Given the description of an element on the screen output the (x, y) to click on. 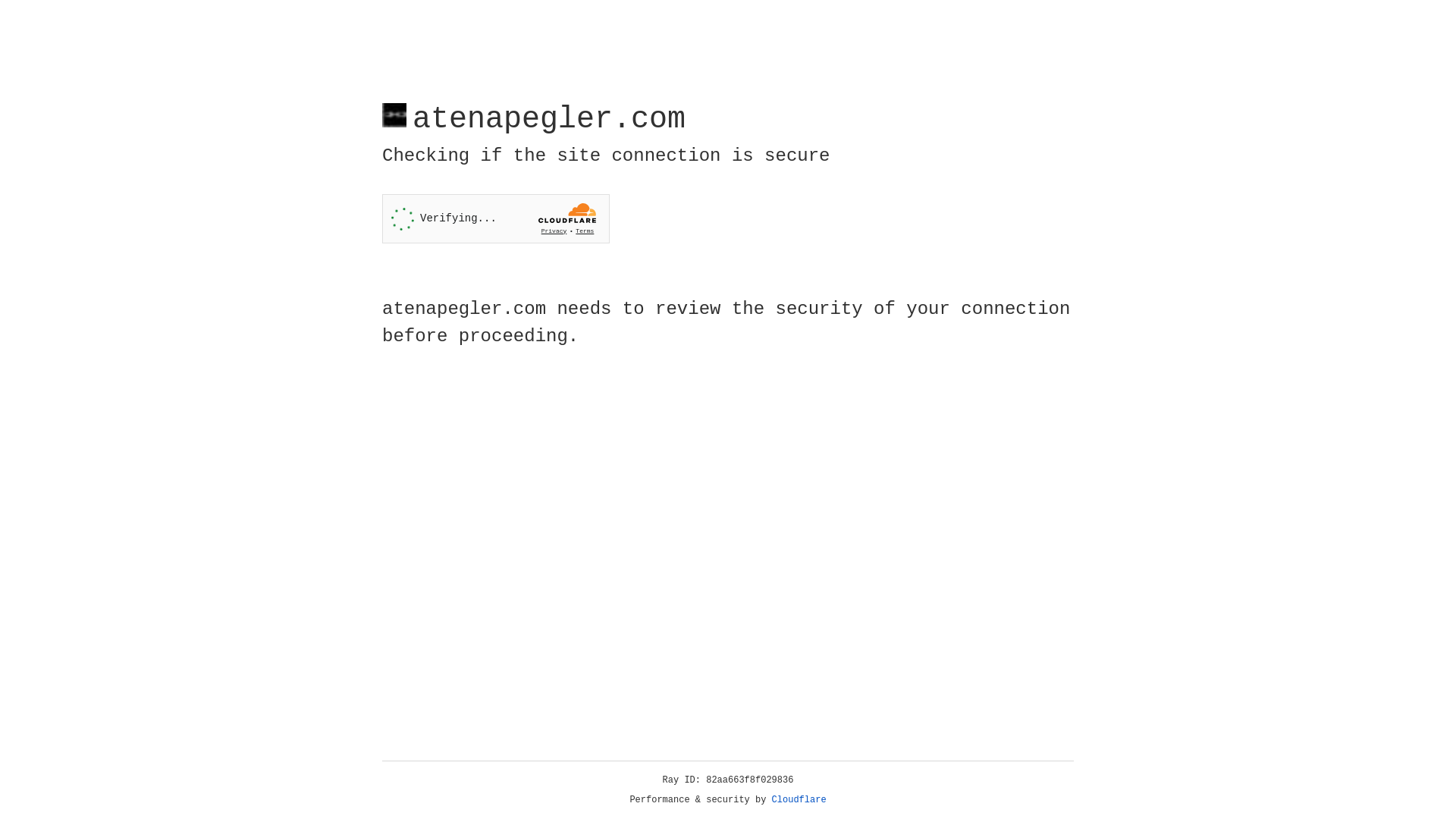
Cloudflare Element type: text (798, 799)
Widget containing a Cloudflare security challenge Element type: hover (495, 218)
